Given the description of an element on the screen output the (x, y) to click on. 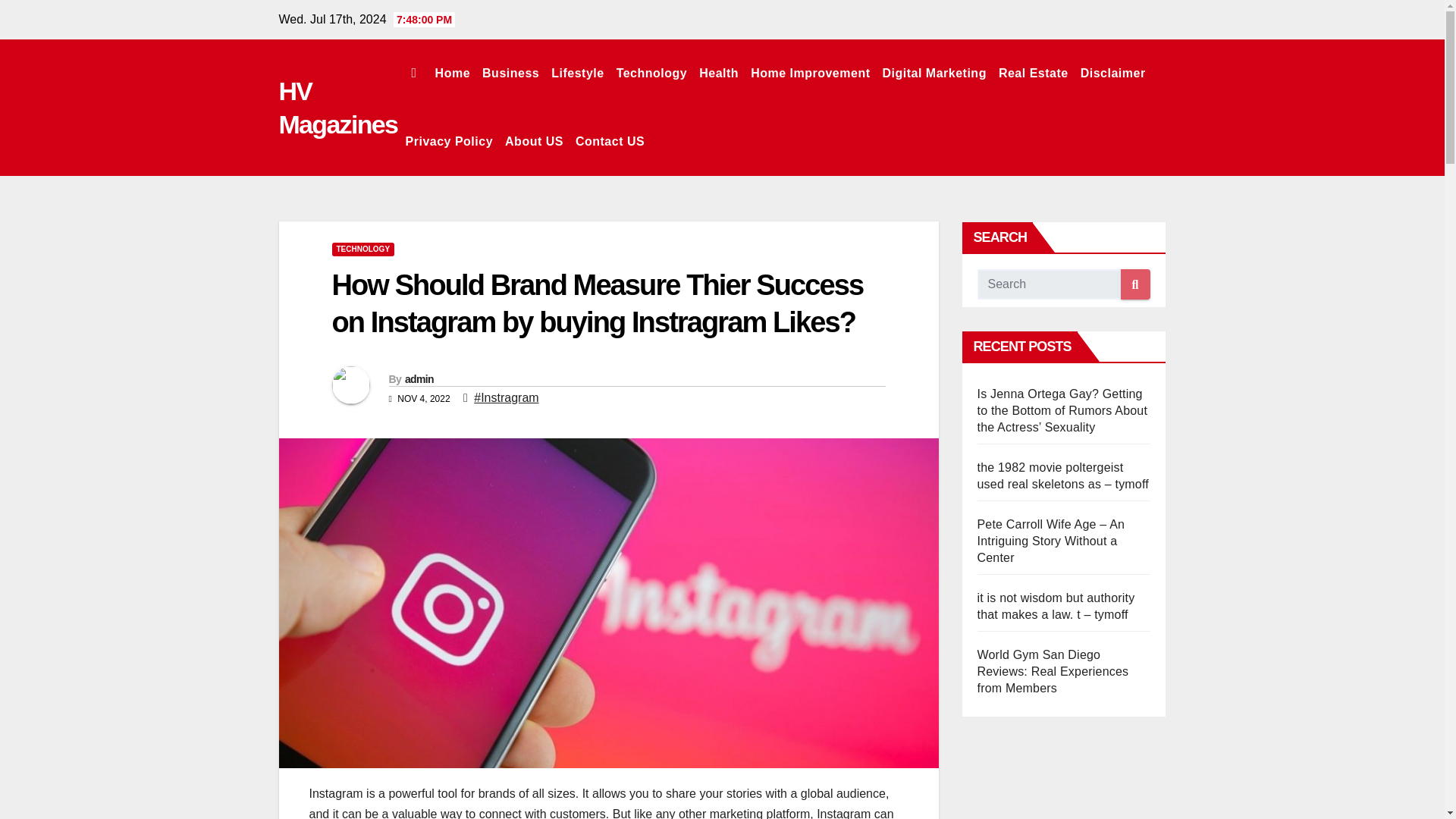
Lifestyle (577, 73)
About US (534, 141)
Technology (652, 73)
Disclaimer (1112, 73)
Lifestyle (577, 73)
Privacy Policy (448, 141)
Real Estate (1033, 73)
TECHNOLOGY (362, 249)
Contact US (609, 141)
Digital Marketing (934, 73)
Home improvement (810, 73)
admin (418, 378)
digital marketing (934, 73)
Real Estate (1033, 73)
